Given the description of an element on the screen output the (x, y) to click on. 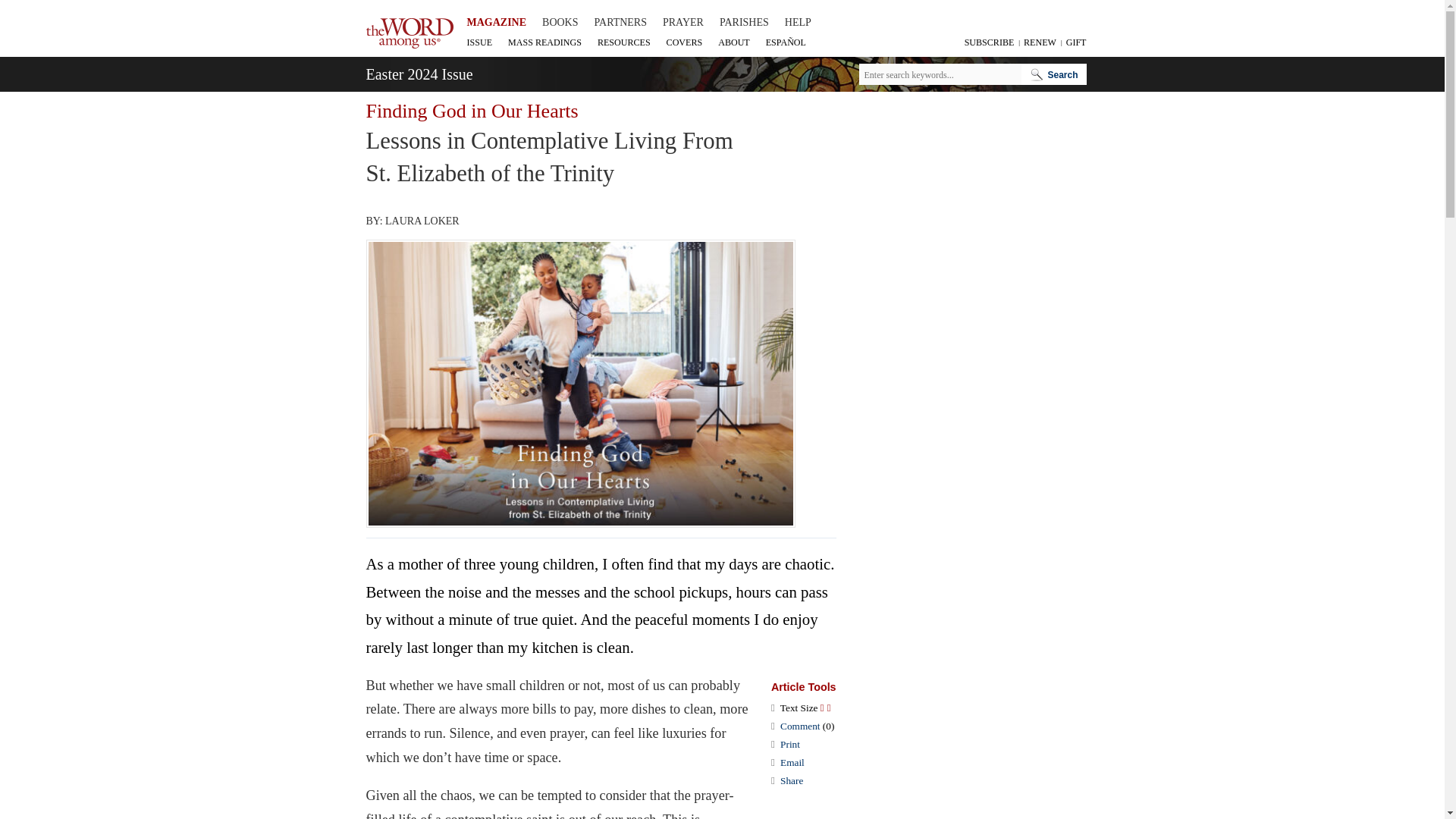
MASS READINGS (544, 42)
ABOUT (733, 42)
HELP (797, 22)
COVERS (684, 42)
RENEW (1038, 42)
GIFT (1074, 42)
SUBSCRIBE (987, 42)
Print (789, 744)
Search (1059, 74)
PARISHES (743, 22)
